Given the description of an element on the screen output the (x, y) to click on. 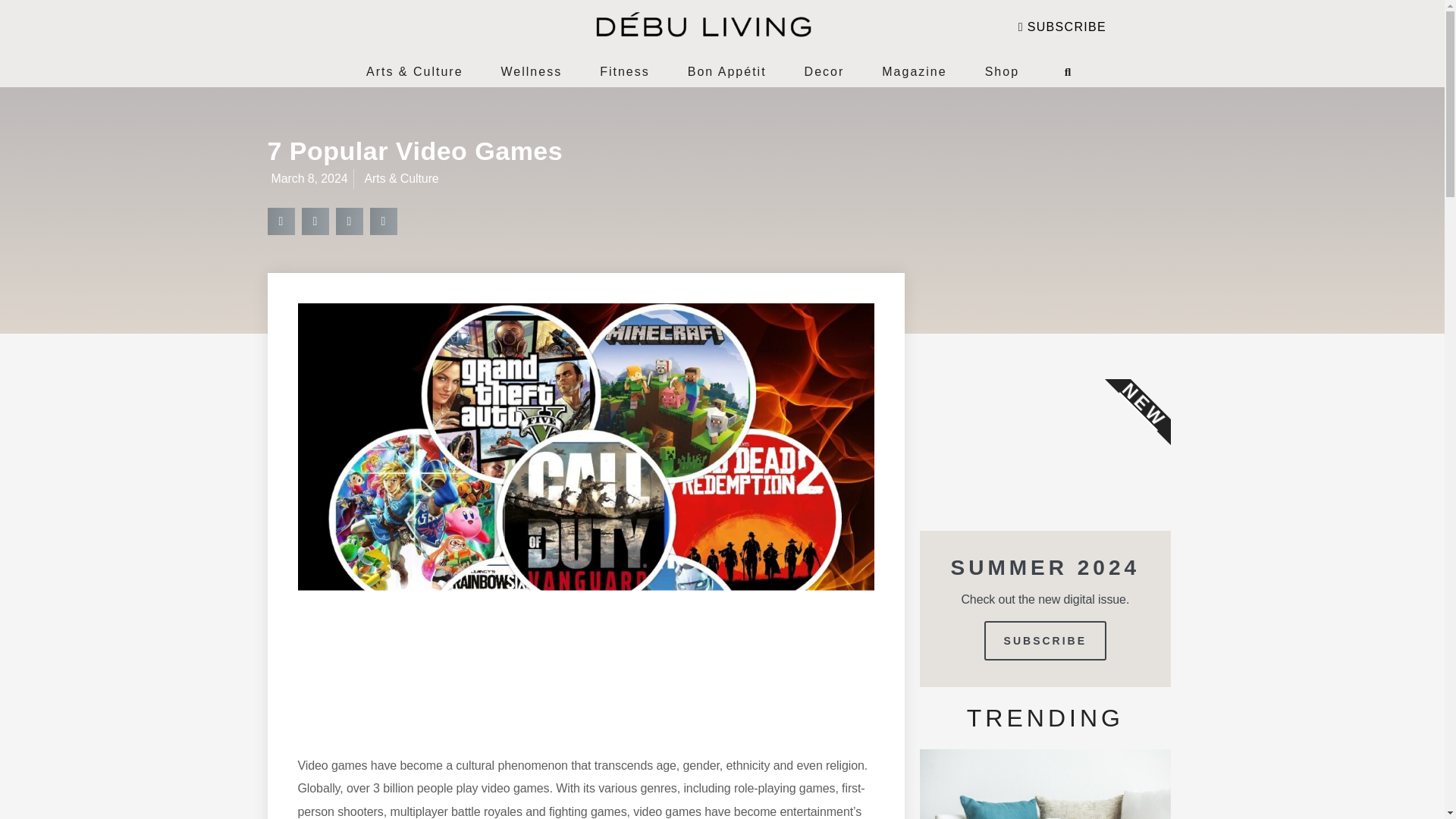
Decor (824, 72)
Fitness (624, 72)
Magazine (914, 72)
SUBSCRIBE (1045, 640)
Shop (1002, 72)
SUBSCRIBE (1062, 27)
Wellness (531, 72)
